Given the description of an element on the screen output the (x, y) to click on. 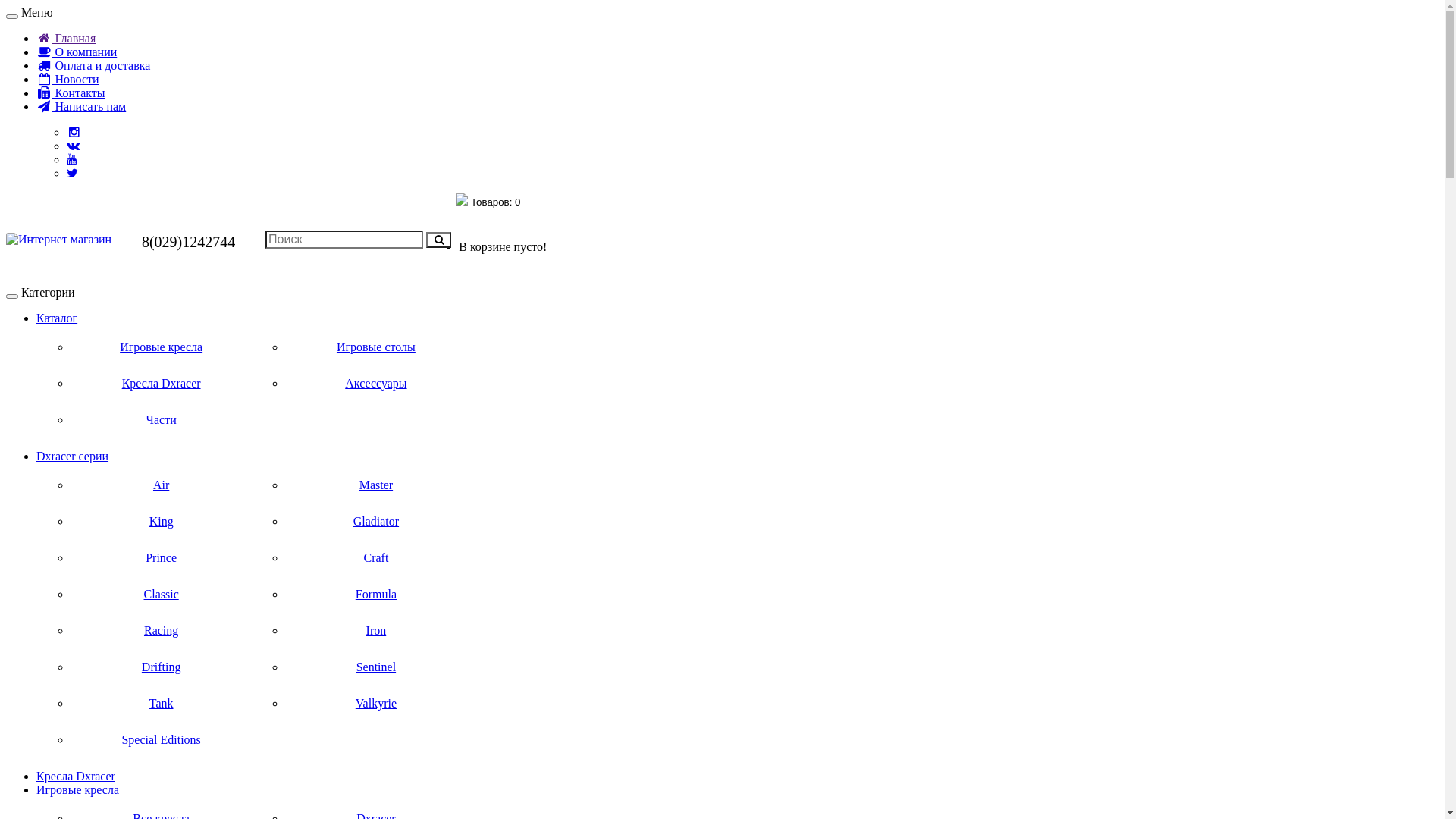
Air Element type: text (160, 484)
Special Editions Element type: text (160, 739)
Racing Element type: text (160, 630)
instagram Element type: hover (74, 131)
Valkyrie Element type: text (375, 703)
Iron Element type: text (375, 630)
8(029)1242744 Element type: text (188, 241)
Sentinel Element type: text (375, 666)
Craft Element type: text (375, 557)
 - vk Element type: hover (72, 145)
Gladiator Element type: text (375, 521)
King Element type: text (160, 521)
Formula Element type: text (375, 594)
 - twitter Element type: hover (72, 172)
 - youtube Element type: hover (71, 159)
Prince Element type: text (160, 557)
Classic Element type: text (160, 594)
Tank Element type: text (160, 703)
Master Element type: text (375, 484)
Drifting Element type: text (160, 666)
